Given the description of an element on the screen output the (x, y) to click on. 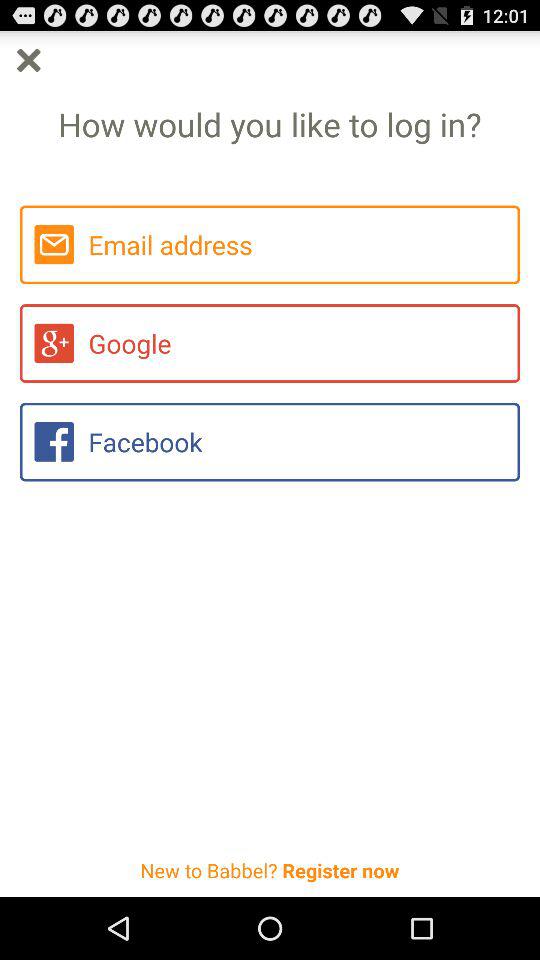
open the item above how would you item (28, 60)
